Given the description of an element on the screen output the (x, y) to click on. 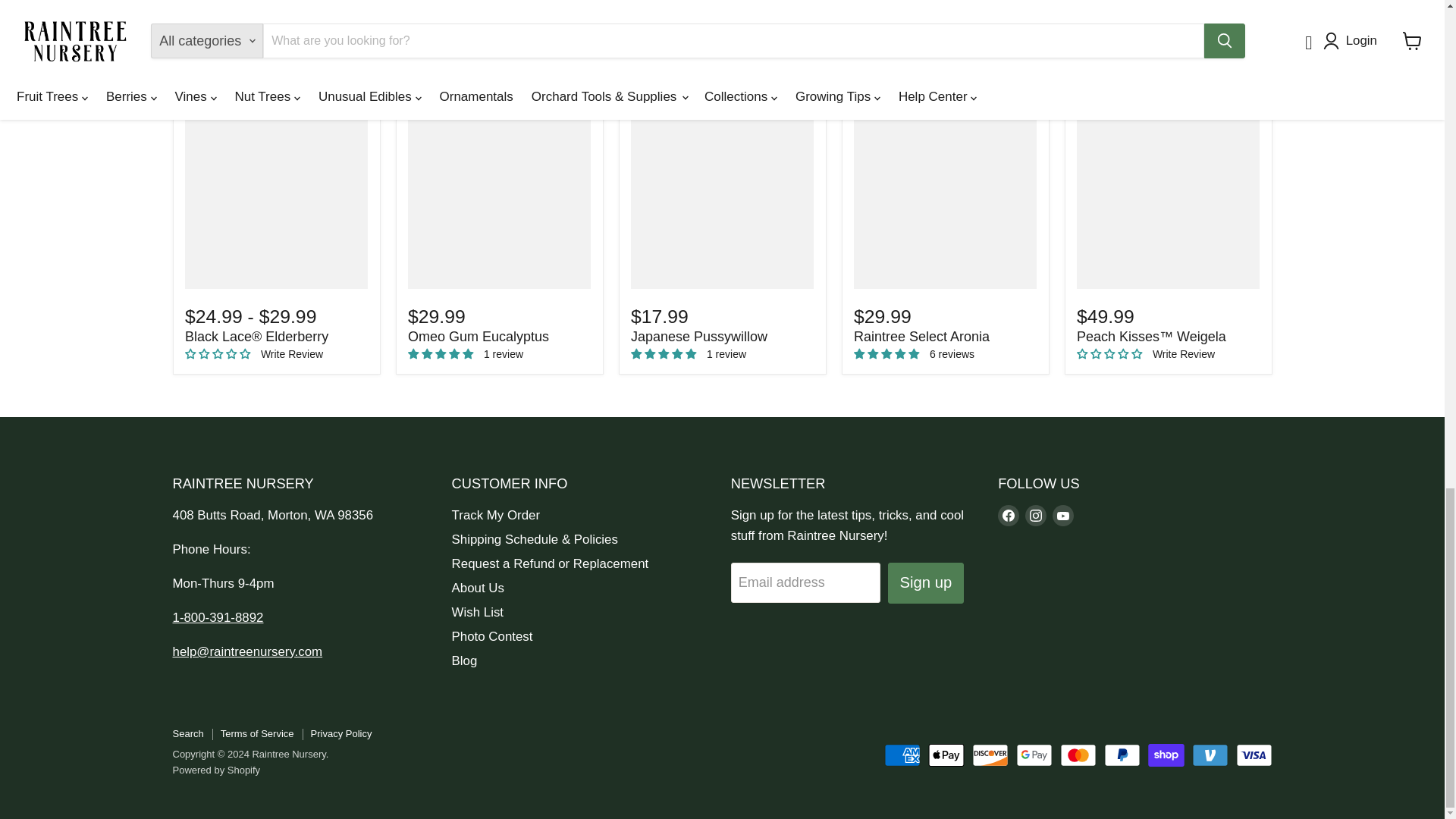
American Express (901, 754)
YouTube (1063, 515)
Instagram (1035, 515)
Facebook (1008, 515)
tel:1-800-391-8892.com (218, 617)
Apple Pay (945, 754)
